Given the description of an element on the screen output the (x, y) to click on. 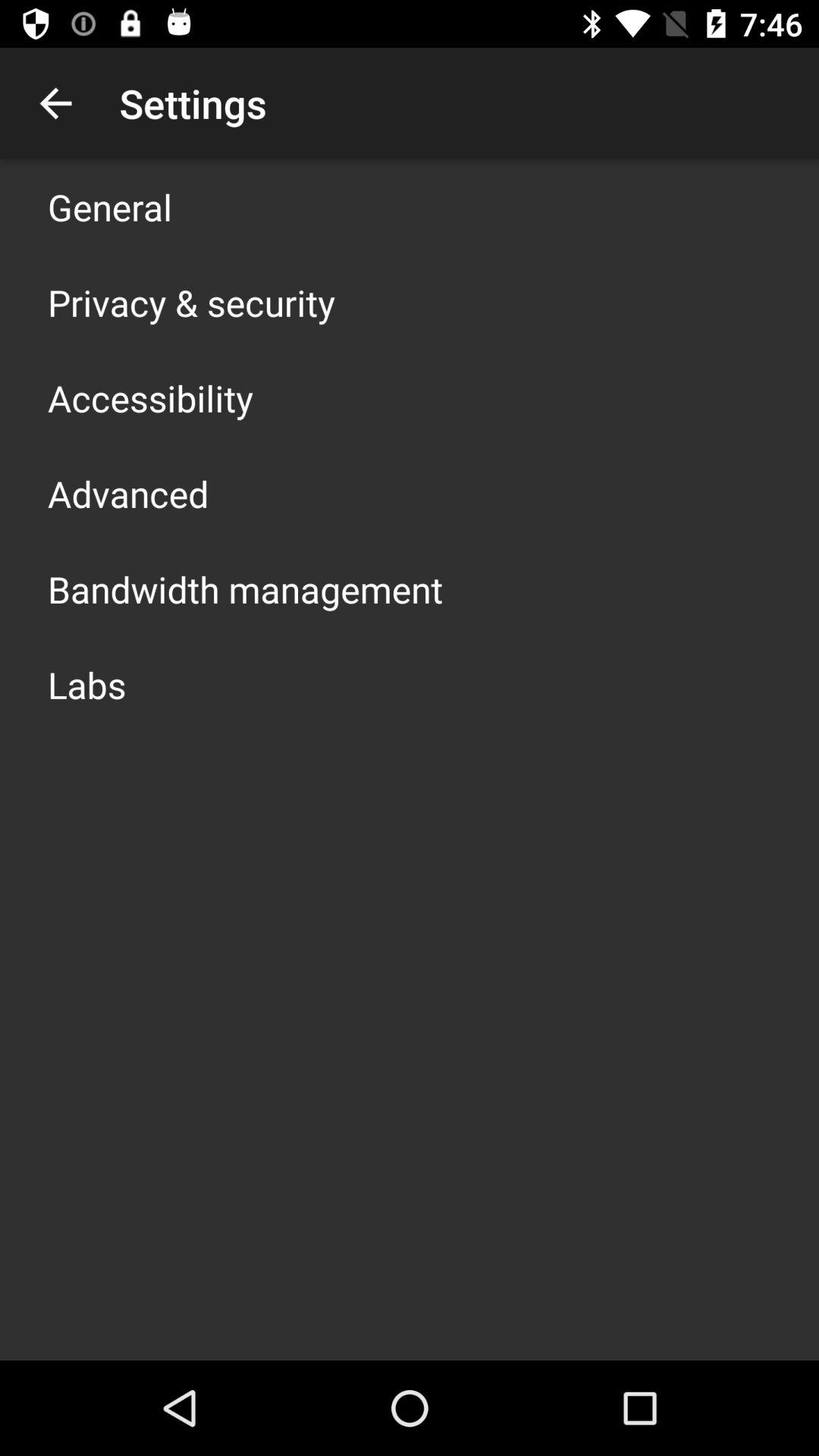
select bandwidth management item (245, 588)
